Given the description of an element on the screen output the (x, y) to click on. 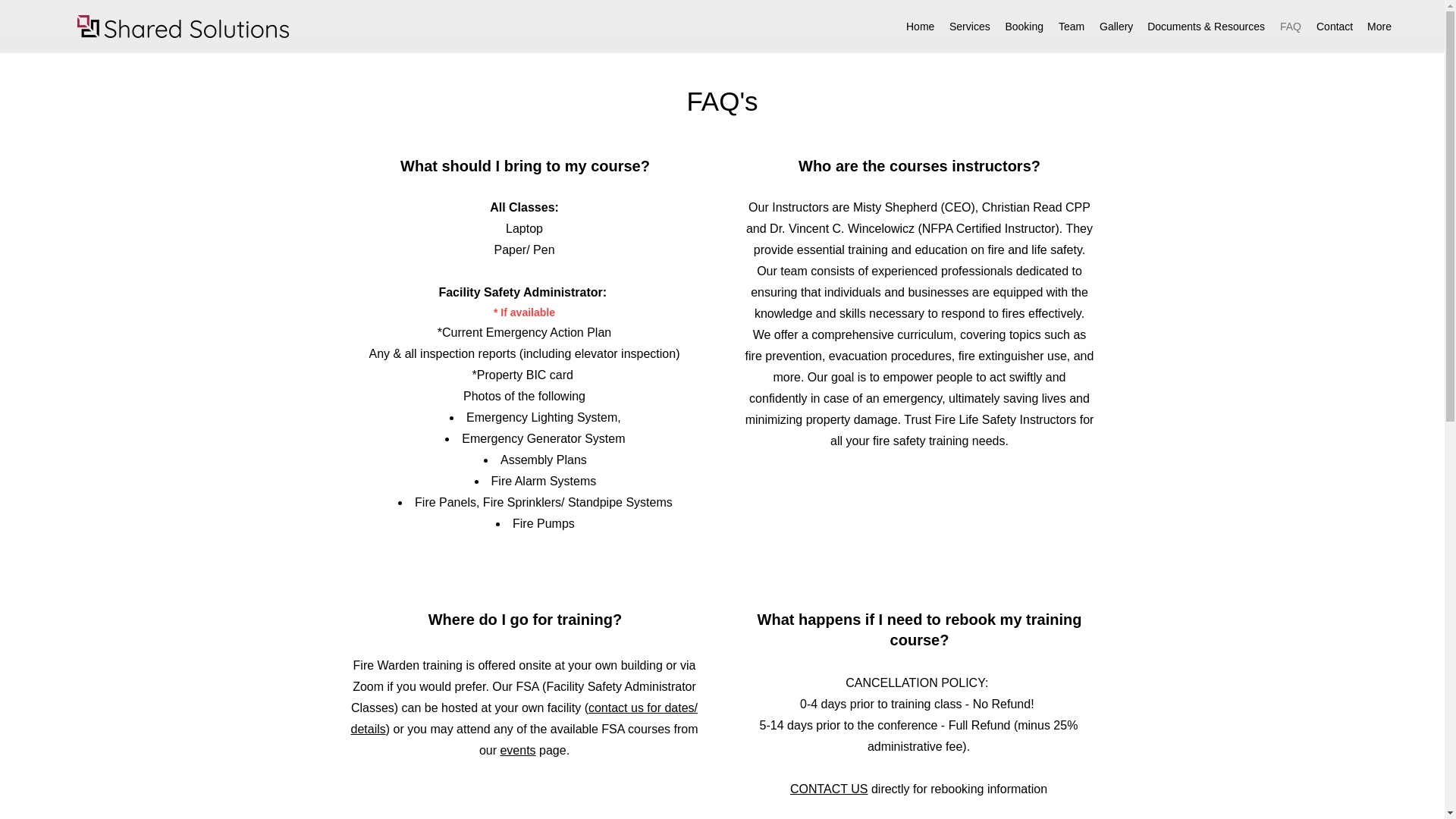
Services (969, 26)
Booking (1024, 26)
Contact (1333, 26)
events (517, 748)
CONTACT US (828, 788)
Gallery (1116, 26)
